Given the description of an element on the screen output the (x, y) to click on. 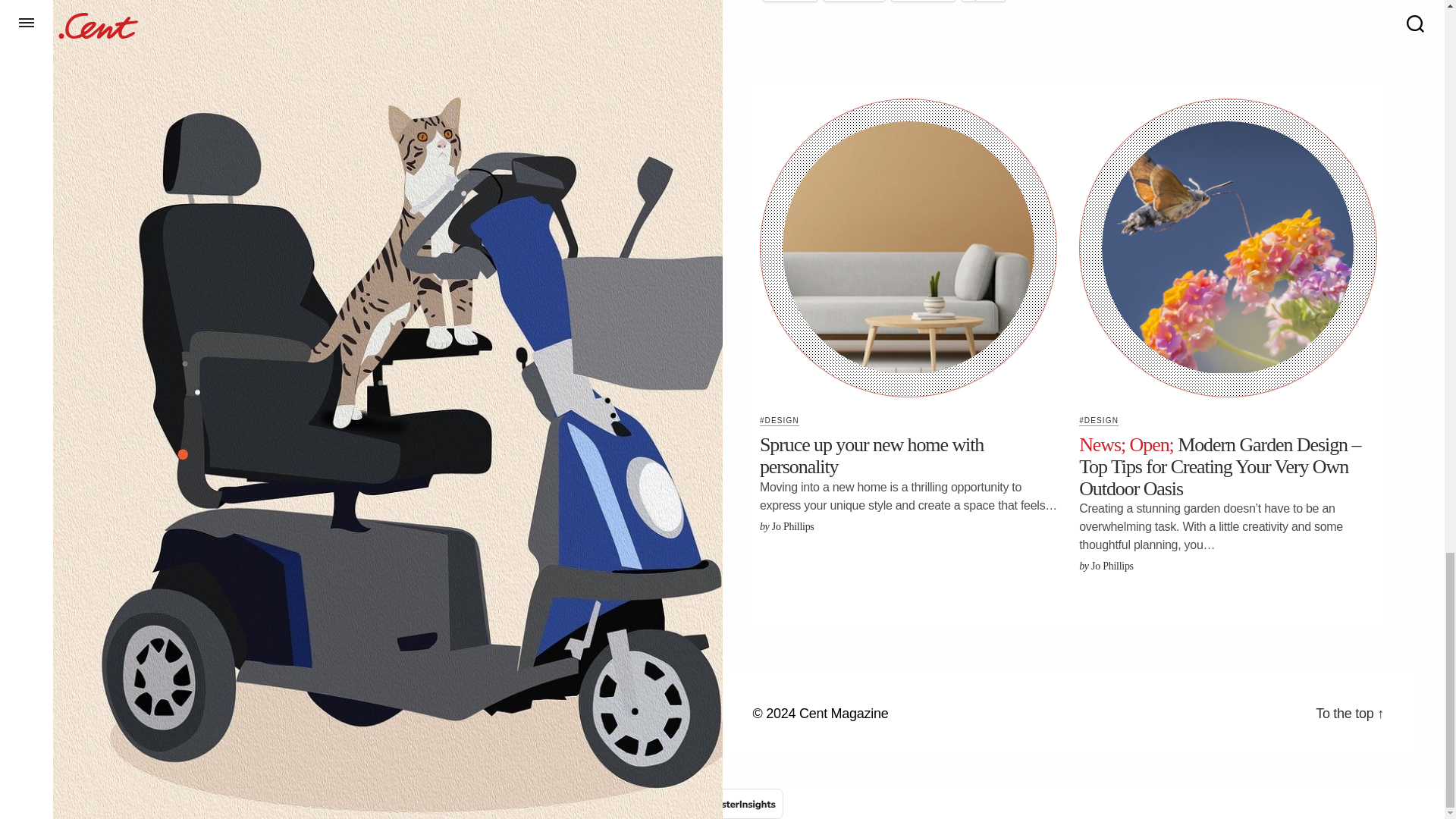
Click to share on Instagram (854, 0)
Click to share on Threads (789, 0)
Author Profile (792, 526)
Author Profile (1112, 565)
Click to share on Clubhouse (923, 0)
